Given the description of an element on the screen output the (x, y) to click on. 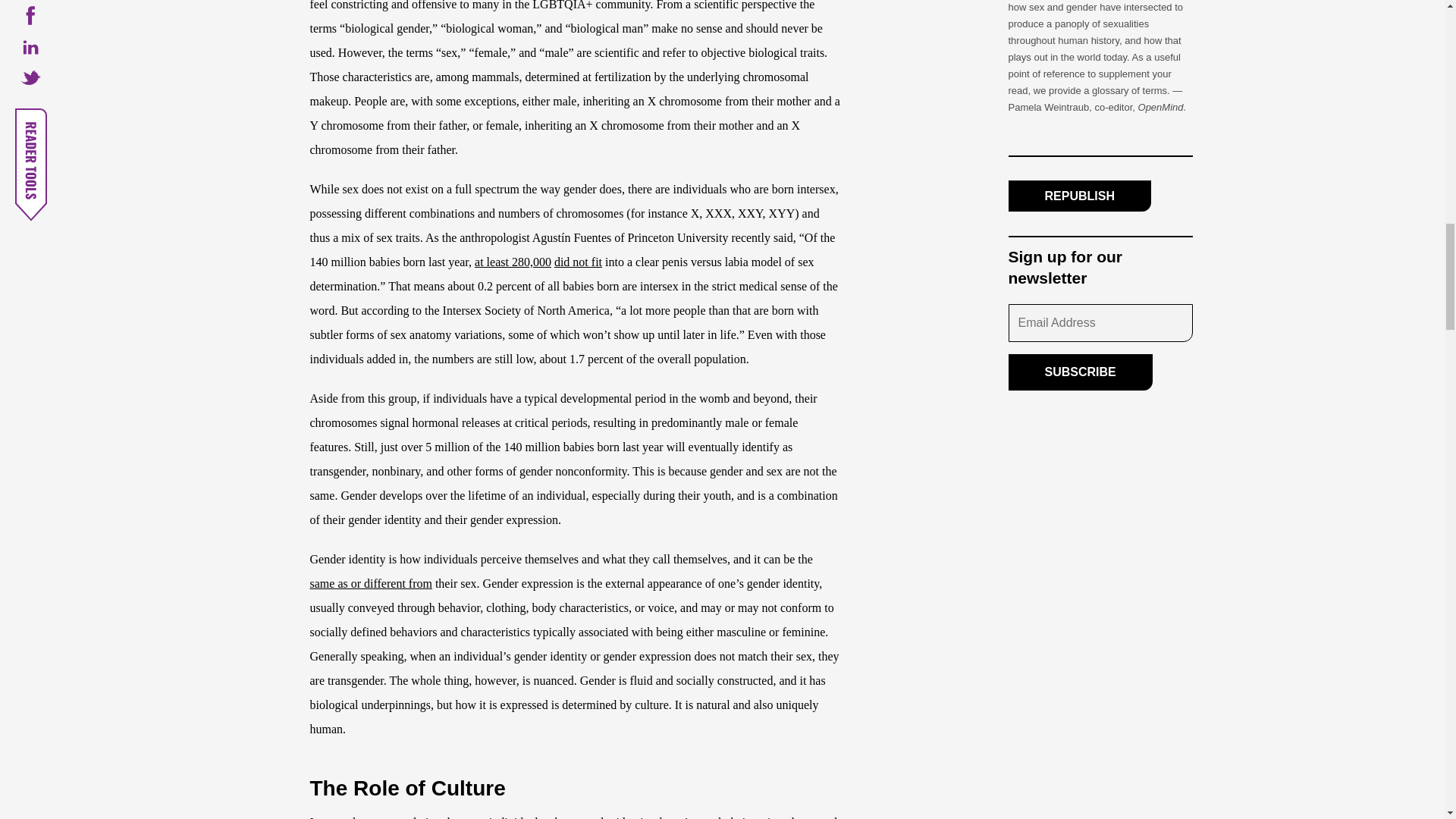
same as or different from (369, 583)
Subscribe (1081, 371)
did not fit (578, 261)
REPUBLISH (1080, 195)
Subscribe (1081, 371)
at least 280,000 (512, 261)
